Given the description of an element on the screen output the (x, y) to click on. 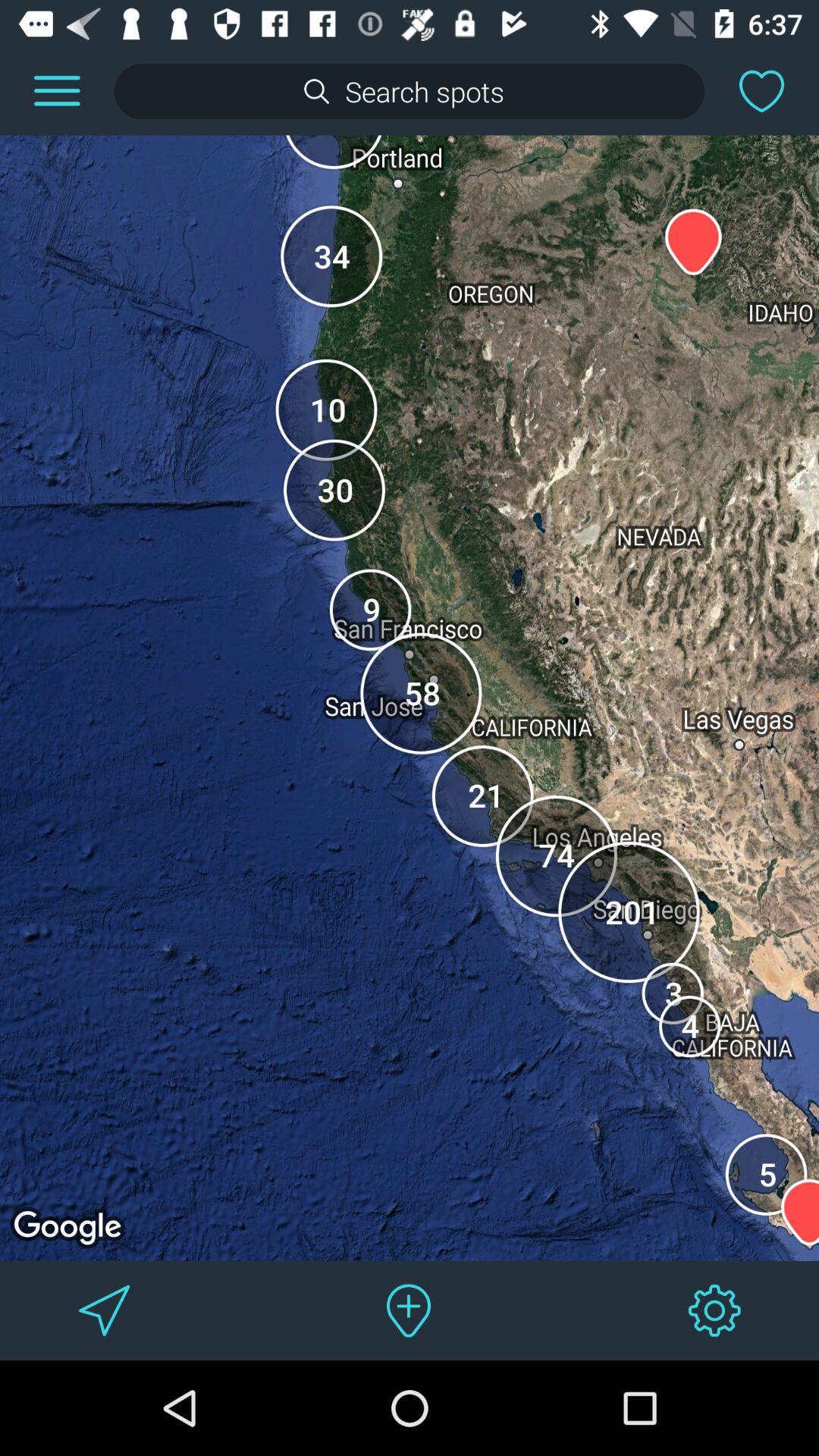
main menu (57, 91)
